Given the description of an element on the screen output the (x, y) to click on. 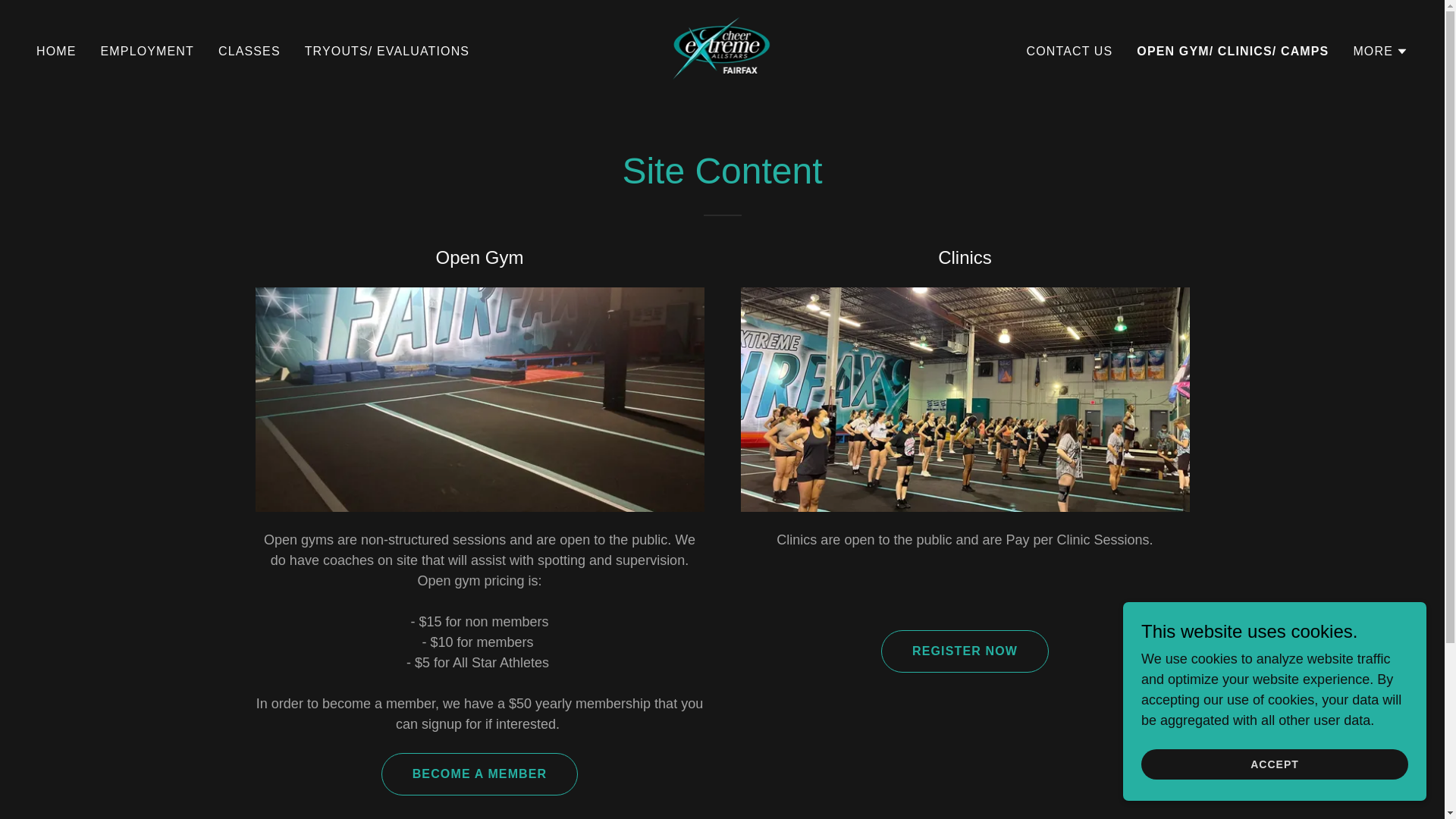
BECOME A MEMBER (479, 773)
CONTACT US (1069, 51)
HOME (56, 51)
Cheer Extreme Fairfax (721, 50)
MORE (1379, 51)
CLASSES (249, 51)
REGISTER NOW (964, 650)
ACCEPT (1274, 764)
EMPLOYMENT (147, 51)
